Given the description of an element on the screen output the (x, y) to click on. 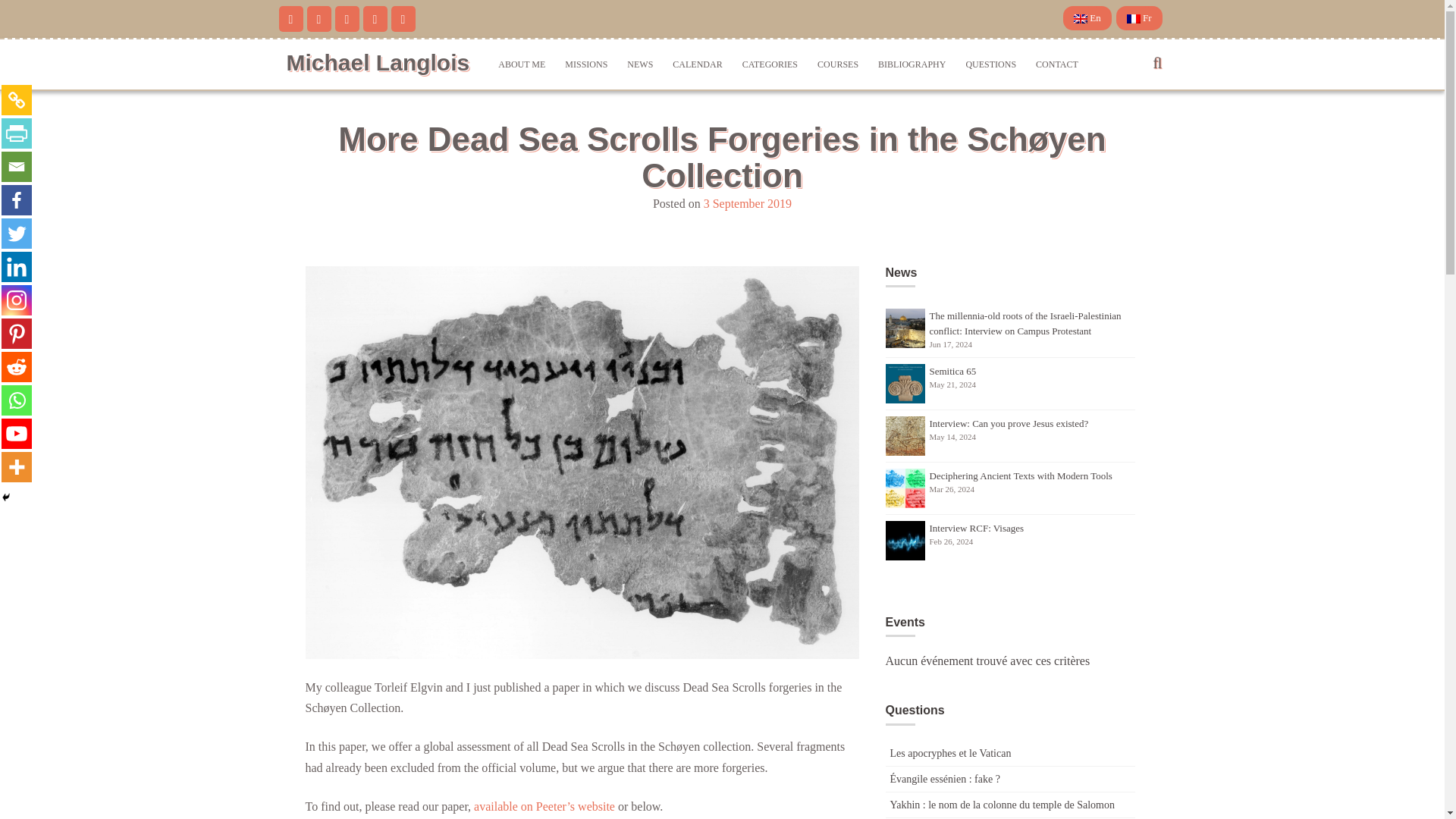
Copy Link (16, 100)
En (1087, 17)
COURSES (837, 64)
PrintFriendly (16, 132)
3 September 2019 (747, 203)
CATEGORIES (770, 64)
CONTACT (1056, 64)
English (1087, 17)
QUESTIONS (990, 64)
CALENDAR (697, 64)
ABOUT ME (520, 64)
BIBLIOGRAPHY (911, 64)
MISSIONS (585, 64)
Fr (1138, 17)
Michael Langlois (378, 62)
